Given the description of an element on the screen output the (x, y) to click on. 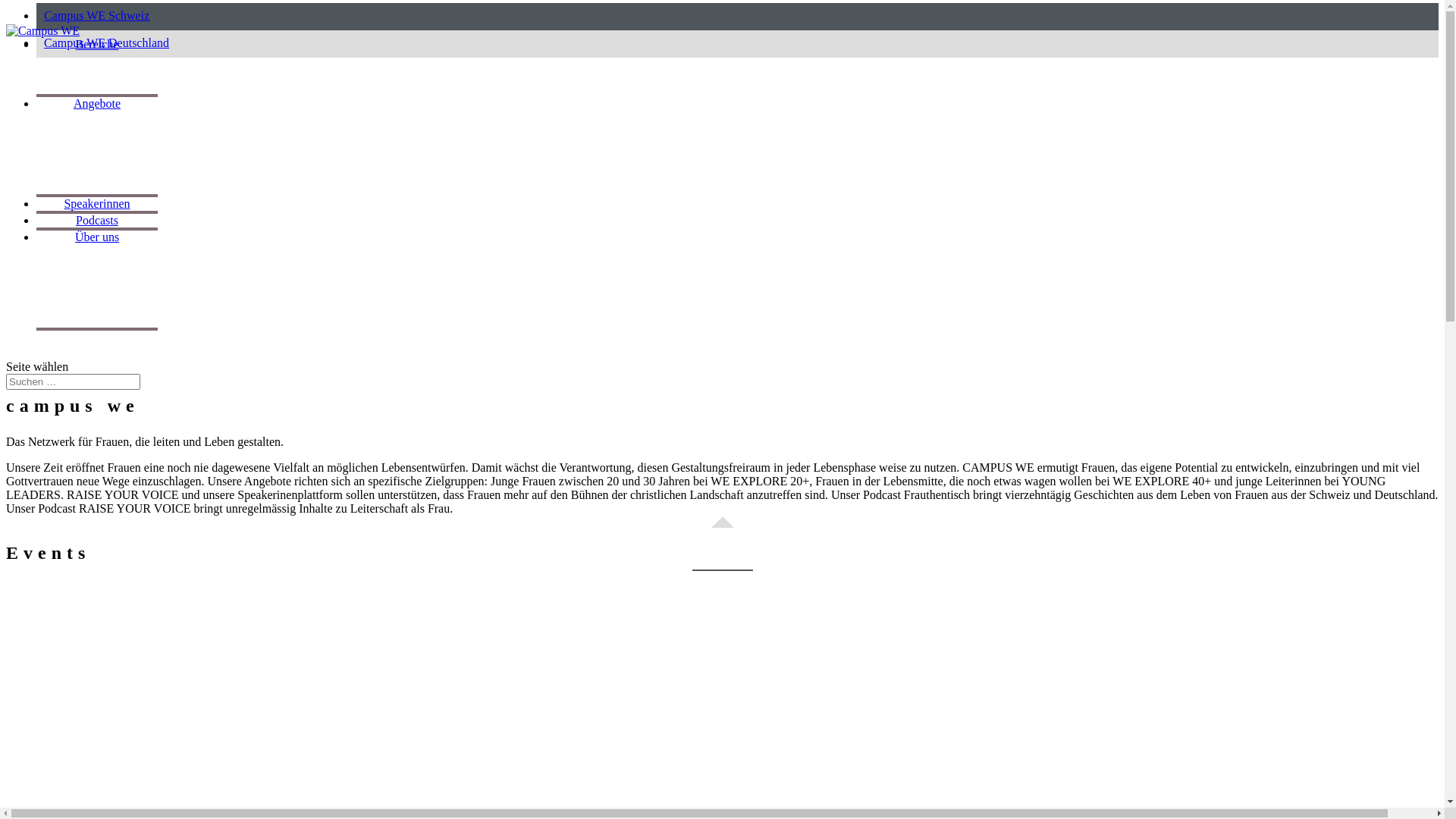
Young Leaders Element type: text (97, 165)
We explore 40+ Element type: text (96, 151)
We explore 20+ Element type: text (96, 137)
Angebote Element type: text (96, 106)
Raise Your Voice Element type: text (96, 124)
Team Element type: text (96, 271)
Netzwerktreffen Element type: text (97, 178)
Speakerinnen Element type: text (96, 206)
Kontakt Element type: text (96, 298)
Spenden Element type: text (96, 312)
we explore Element type: text (97, 78)
Podcasts Element type: text (96, 222)
Suchen nach: Element type: hover (73, 381)
Vision Element type: text (96, 257)
Campus WE Schweiz Element type: text (737, 16)
Bereiche Element type: text (97, 46)
Events Element type: text (96, 285)
we lead Element type: text (96, 65)
Campus WE Deutschland Element type: text (737, 43)
